Given the description of an element on the screen output the (x, y) to click on. 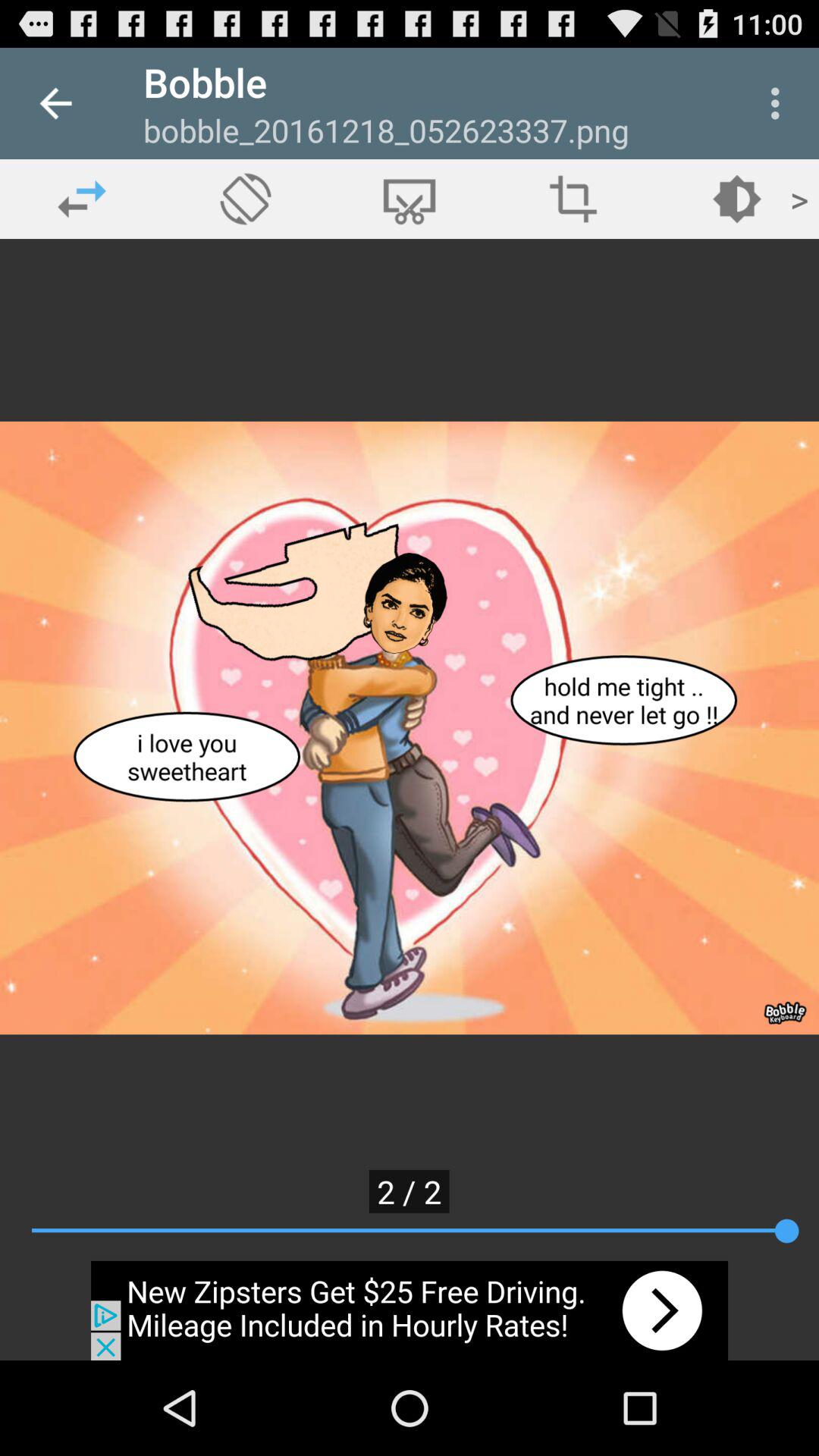
rotate option (245, 198)
